Given the description of an element on the screen output the (x, y) to click on. 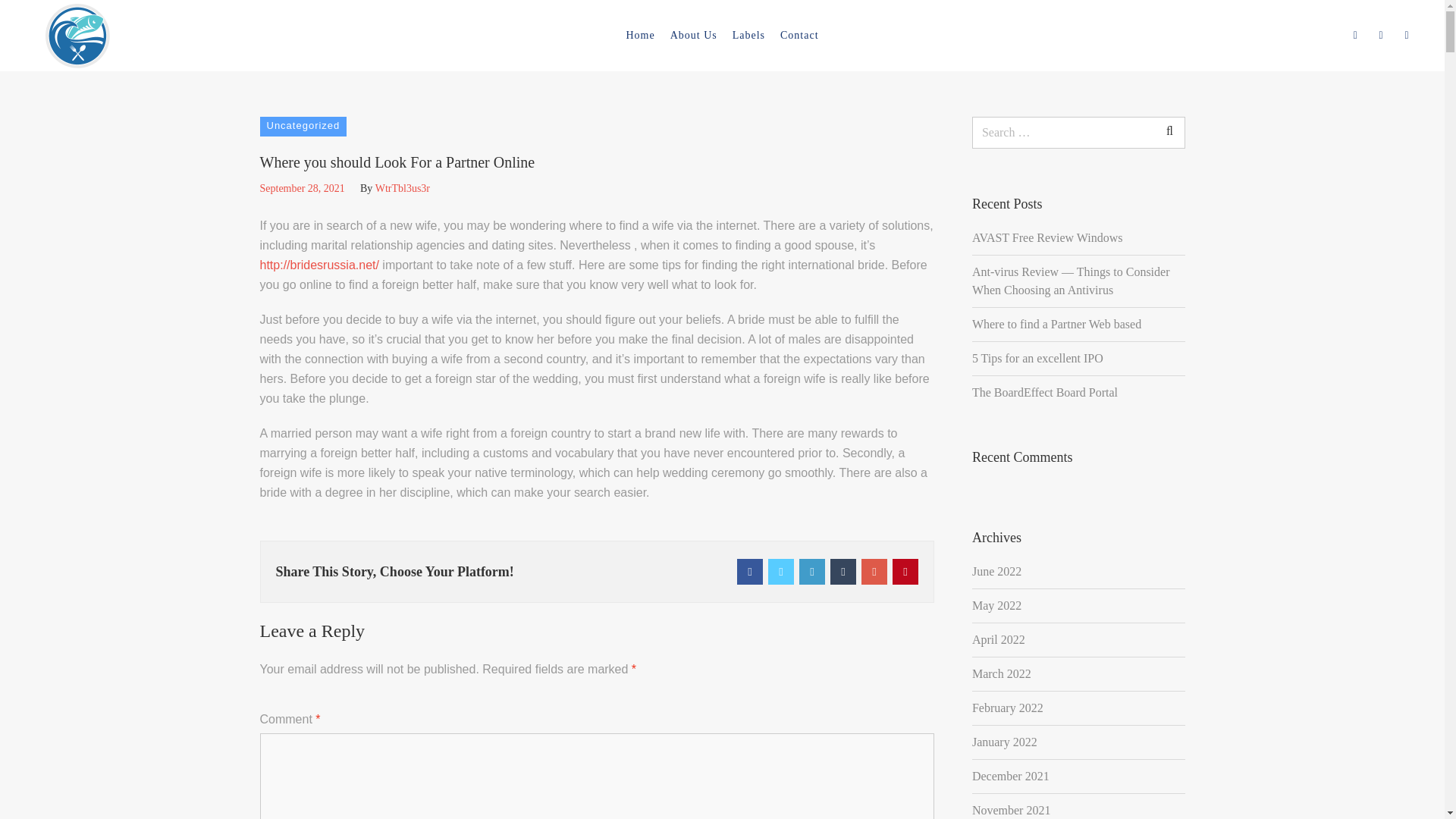
Uncategorized (302, 126)
WtrTbl3us3r (402, 188)
Search (1169, 131)
About Us (693, 35)
Search (1177, 43)
Permalink to Where you should Look For a Partner Online (301, 188)
Search (1169, 131)
Home (639, 35)
View all posts by WtrTbl3us3r (402, 188)
